Given the description of an element on the screen output the (x, y) to click on. 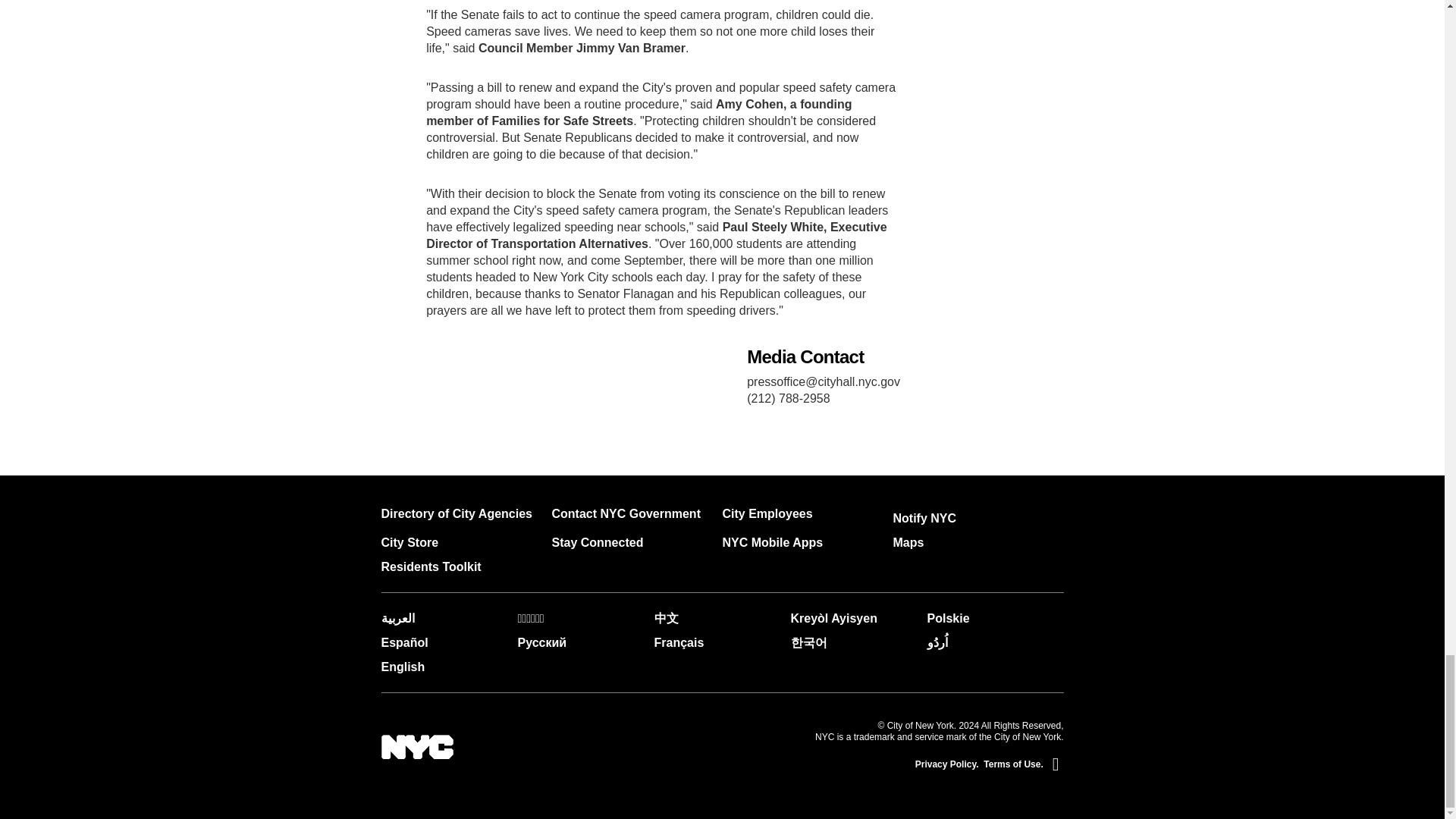
City Employees (767, 513)
Directory of City Agencies (455, 513)
City Store (409, 542)
Contact NYC Government (625, 513)
Notify NYC (924, 517)
Stay Connected (597, 542)
